Given the description of an element on the screen output the (x, y) to click on. 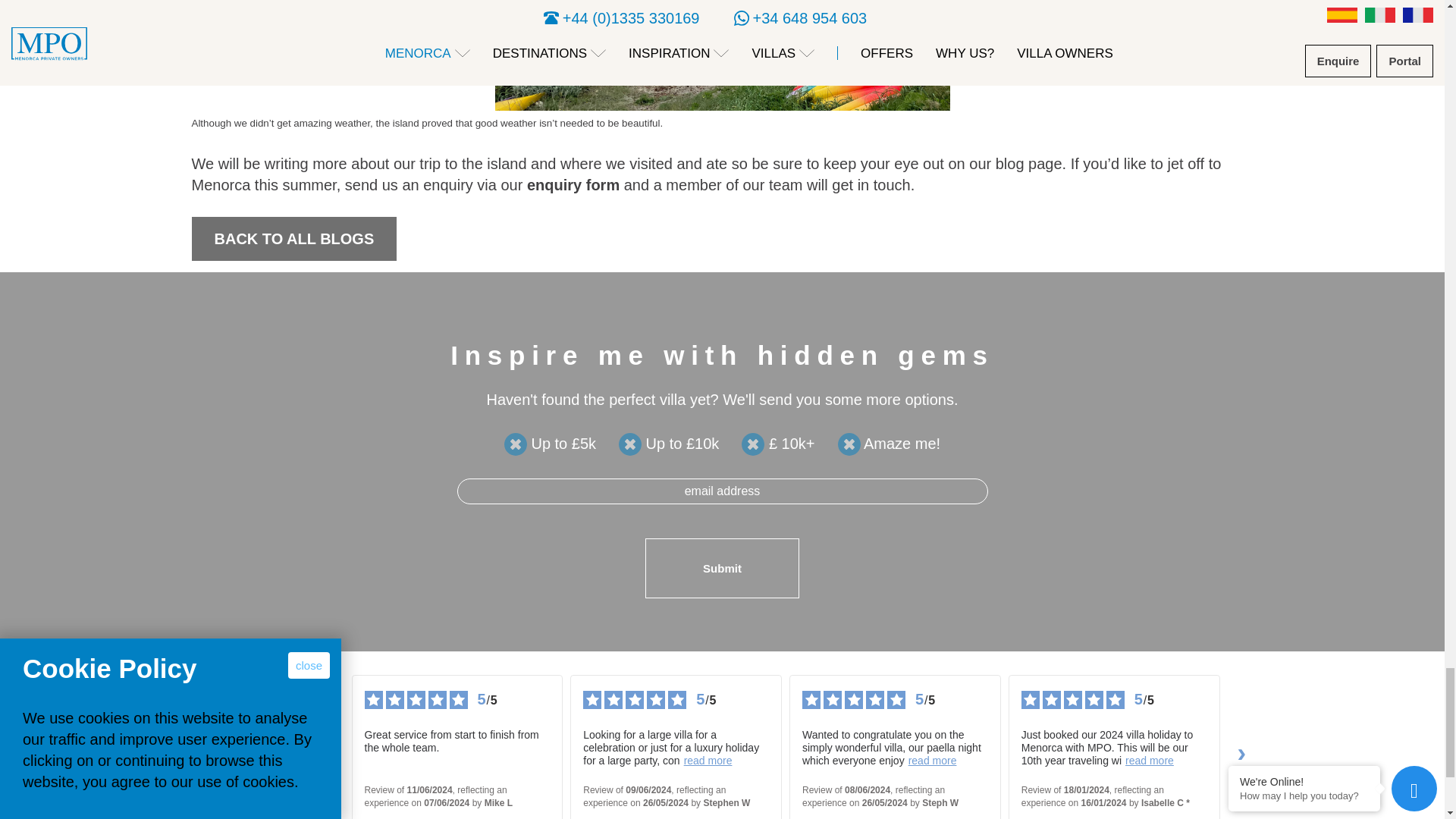
2 (630, 444)
1 (515, 444)
3 (752, 444)
4 (849, 444)
